Given the description of an element on the screen output the (x, y) to click on. 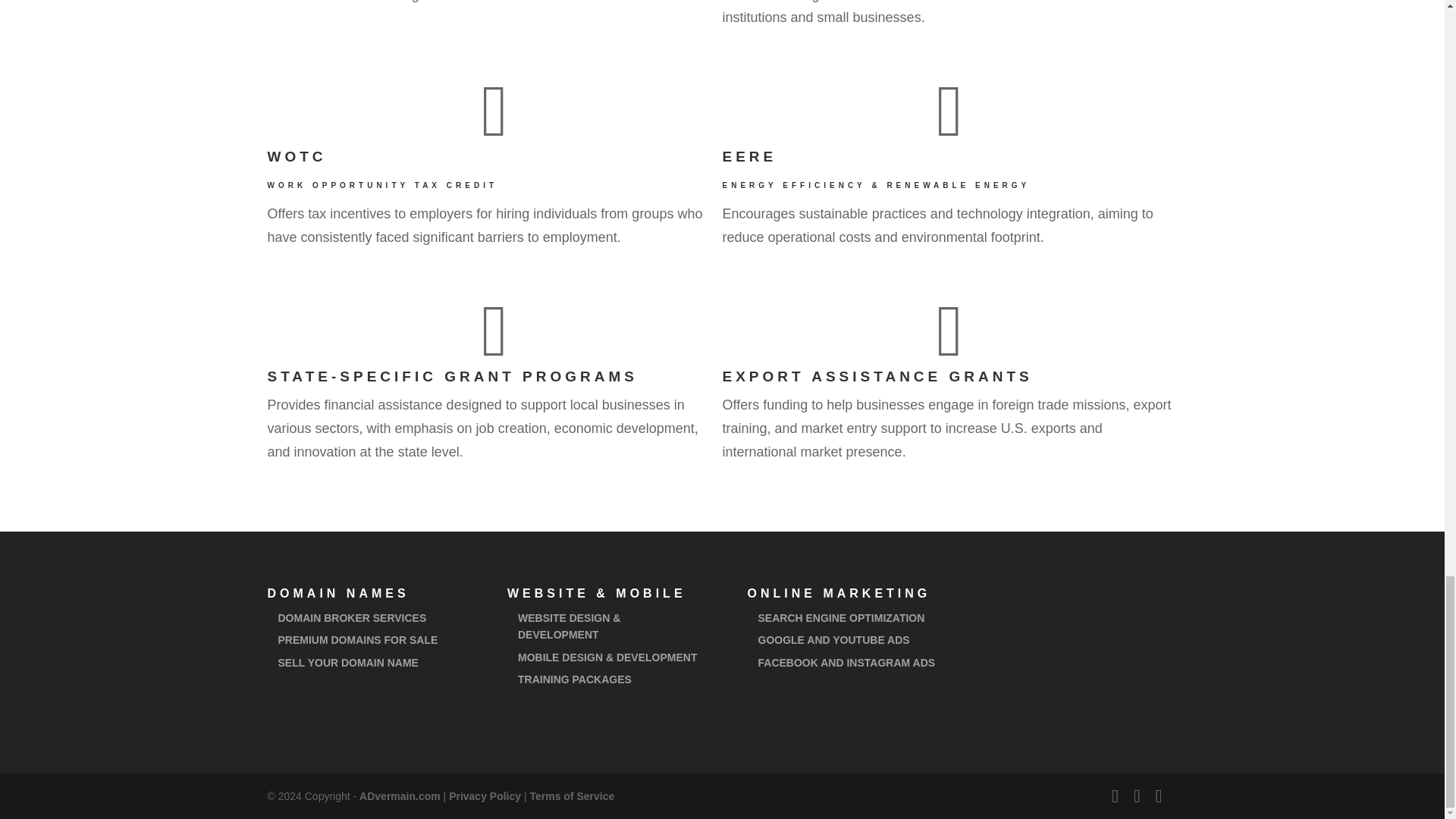
FACEBOOK AND INSTAGRAM ADS (847, 662)
GOOGLE AND YOUTUBE ADS (834, 639)
SELL YOUR DOMAIN NAME (347, 662)
SEARCH ENGINE OPTIMIZATION (841, 617)
PREMIUM DOMAINS FOR SALE (358, 639)
DOMAIN BROKER SERVICES (352, 617)
TRAINING PACKAGES (574, 679)
ADvermain.com (400, 796)
